Given the description of an element on the screen output the (x, y) to click on. 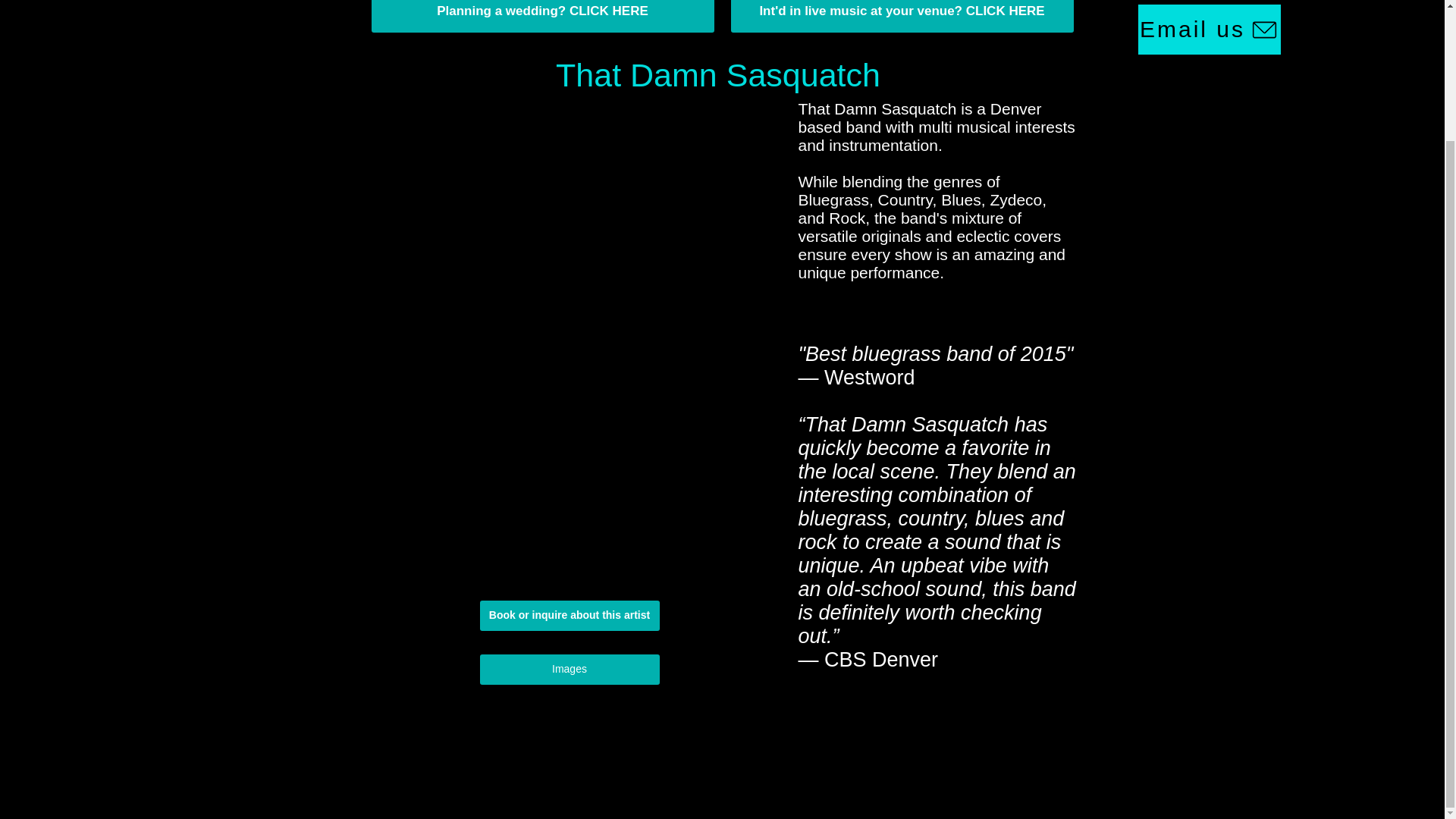
Book or inquire about this artist (569, 615)
Images (569, 669)
Planning a wedding? CLICK HERE (542, 16)
External YouTube (573, 221)
Int'd in live music at your venue? CLICK HERE (902, 16)
